Given the description of an element on the screen output the (x, y) to click on. 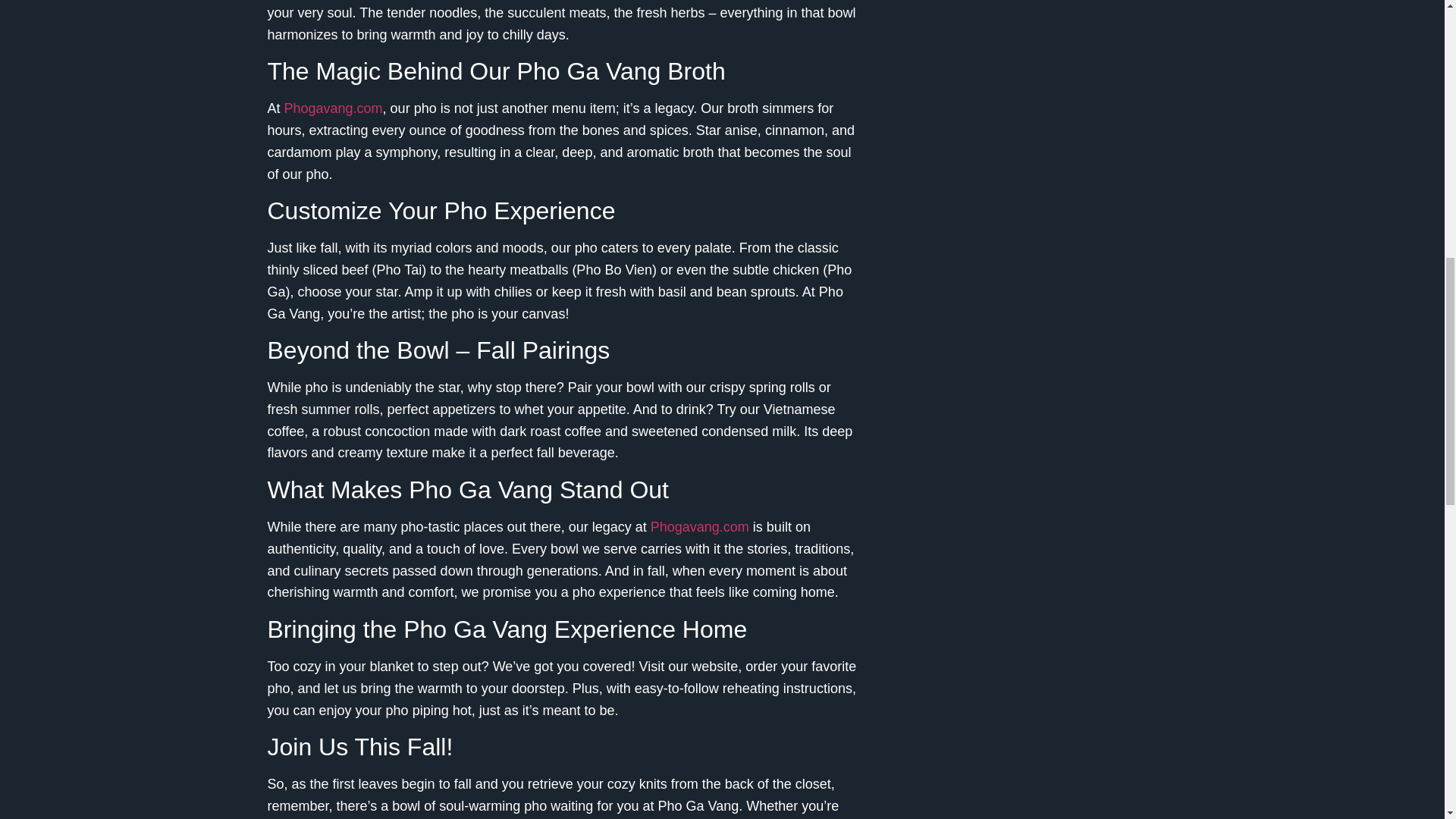
Phogavang.com (699, 526)
Phogavang.com (332, 108)
